Given the description of an element on the screen output the (x, y) to click on. 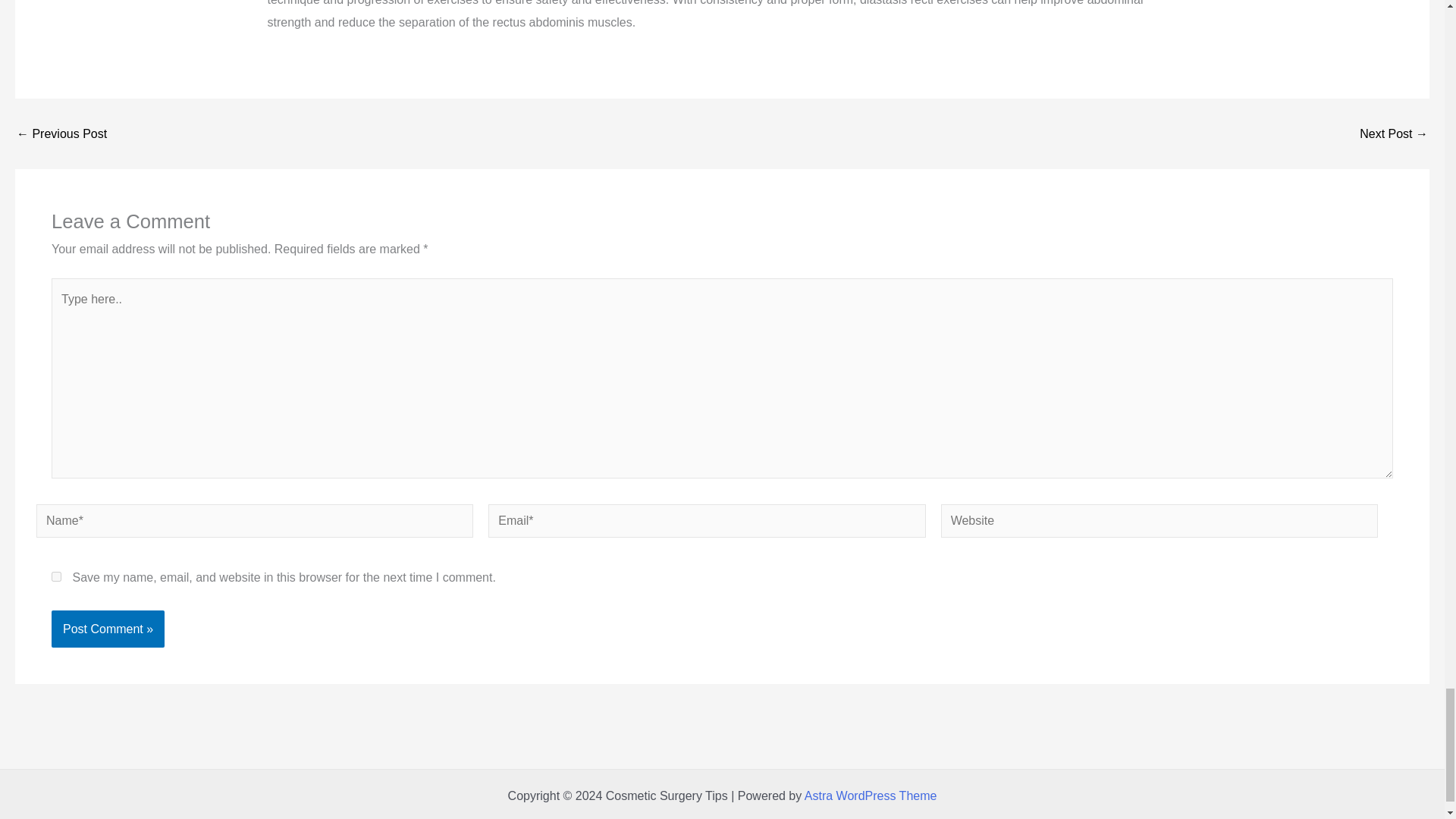
Endoscopic Assisted Modified Tummy Tuck (61, 133)
Extended Tummy Tuck Vs Regular Tummy Tuck (1393, 133)
Astra WordPress Theme (871, 795)
yes (55, 576)
